Given the description of an element on the screen output the (x, y) to click on. 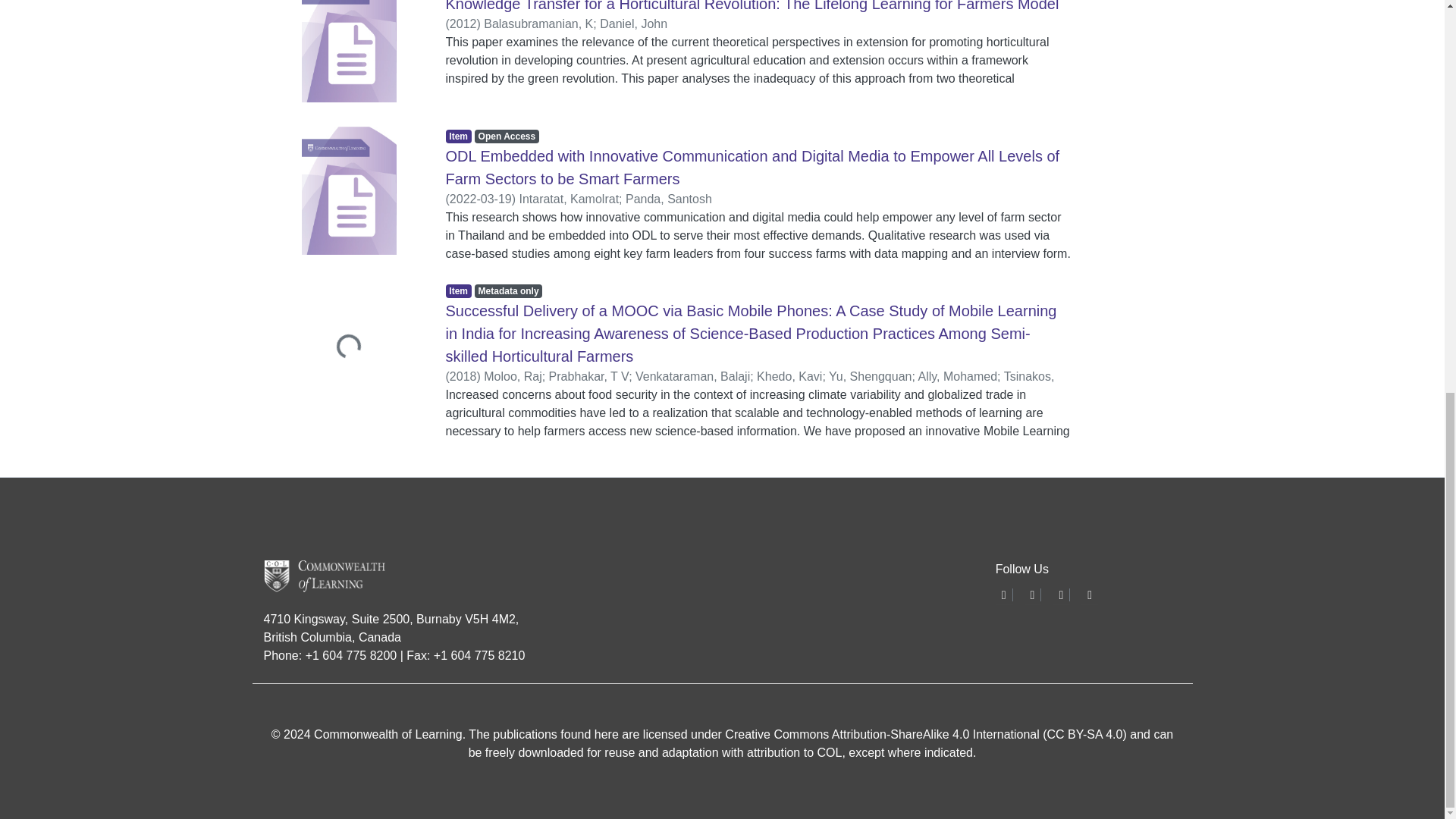
undefined (1033, 594)
undefined (1060, 594)
undefined (1089, 594)
undefined (1003, 594)
